Given the description of an element on the screen output the (x, y) to click on. 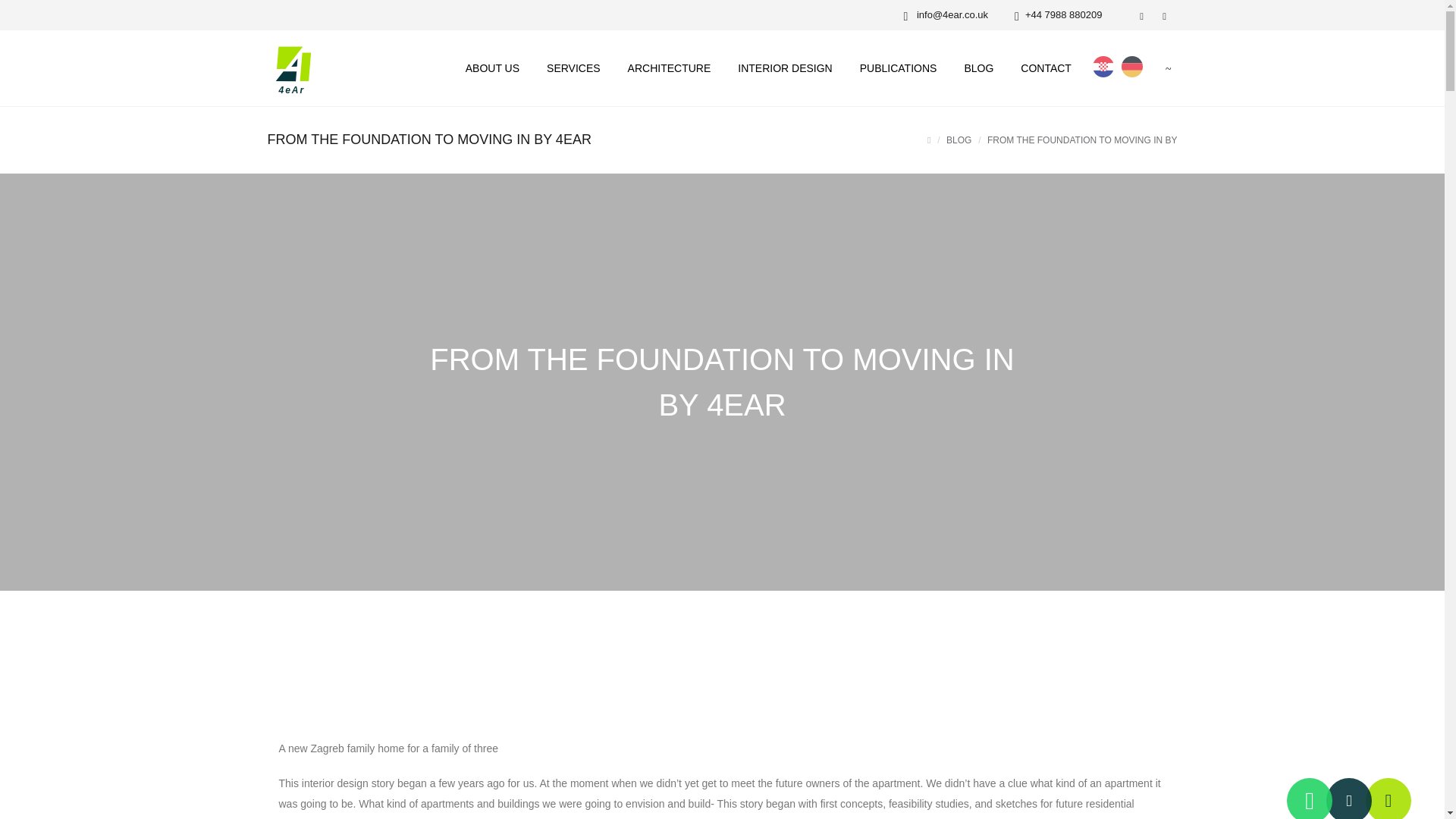
ABOUT US (491, 68)
CONTACT (1045, 68)
INTERIOR DESIGN (784, 68)
PUBLICATIONS (897, 68)
BLOG (958, 140)
ARCHITECTURE (669, 68)
SERVICES (573, 68)
